Given the description of an element on the screen output the (x, y) to click on. 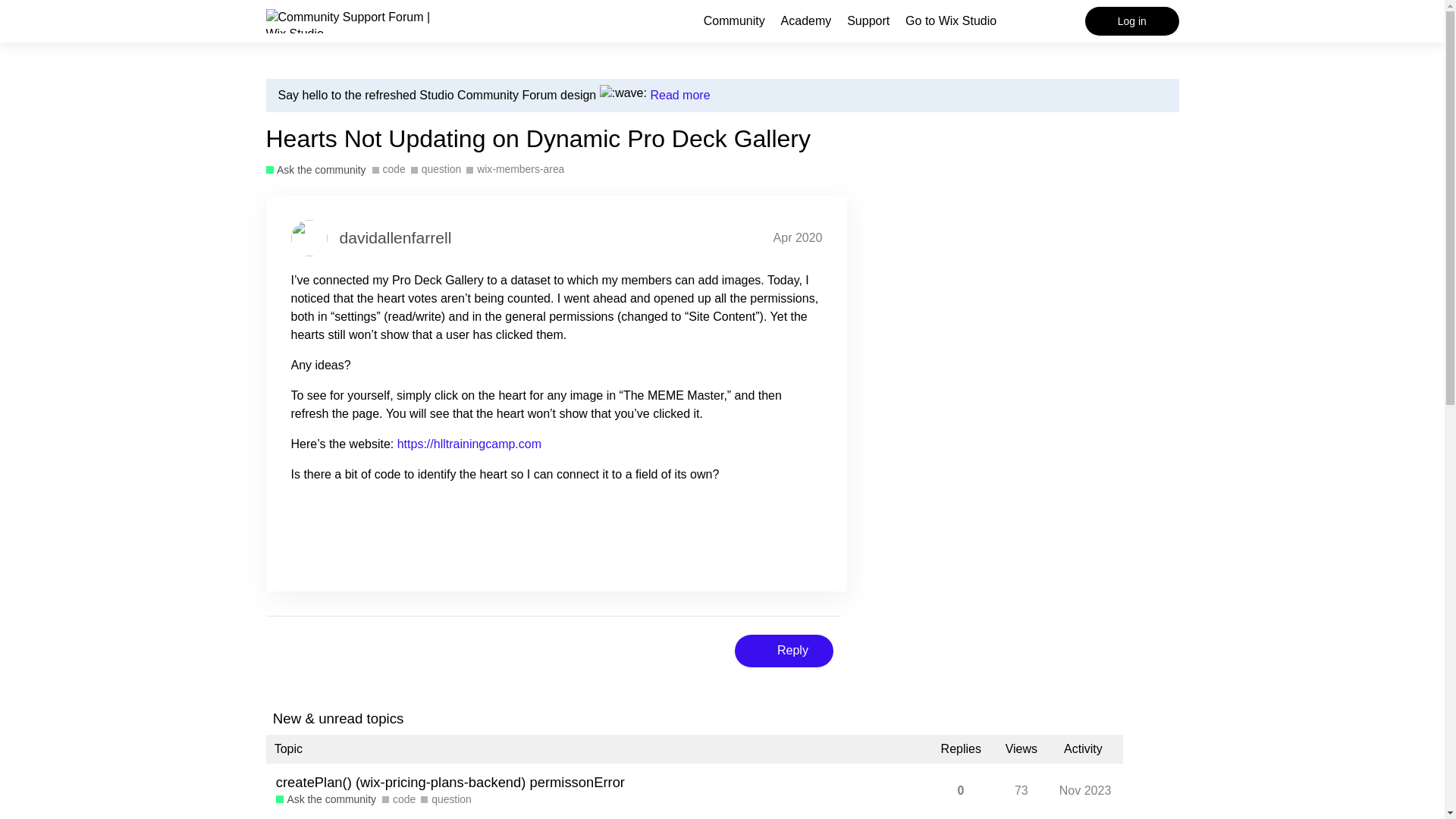
Hearts Not Updating on Dynamic Pro Deck Gallery (537, 138)
Please sign up or log in to like this post (774, 539)
code (389, 169)
code (397, 799)
:wave: (622, 93)
Community (734, 20)
davidallenfarrell (395, 237)
Go to Wix Studio (950, 20)
question (435, 169)
